Given the description of an element on the screen output the (x, y) to click on. 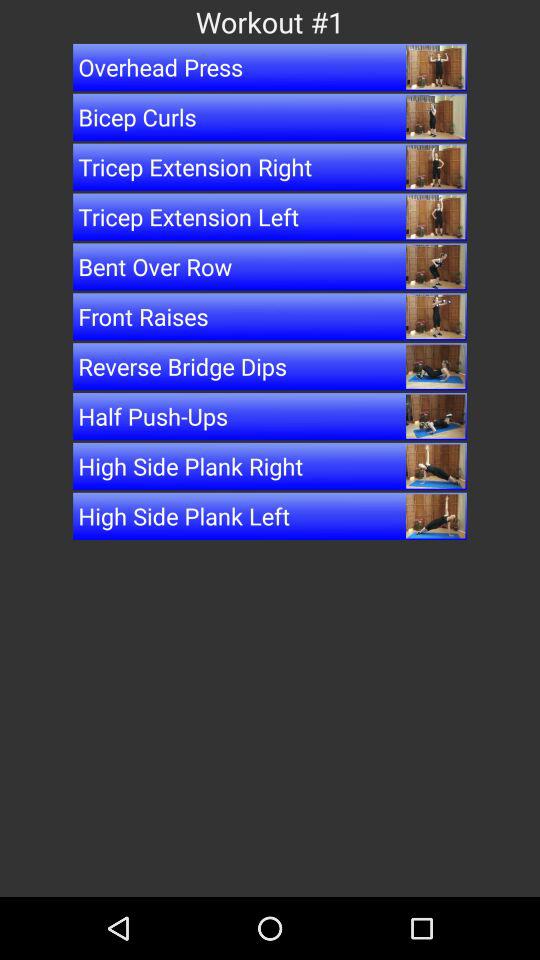
choose the app below the workout #1 icon (269, 67)
